Given the description of an element on the screen output the (x, y) to click on. 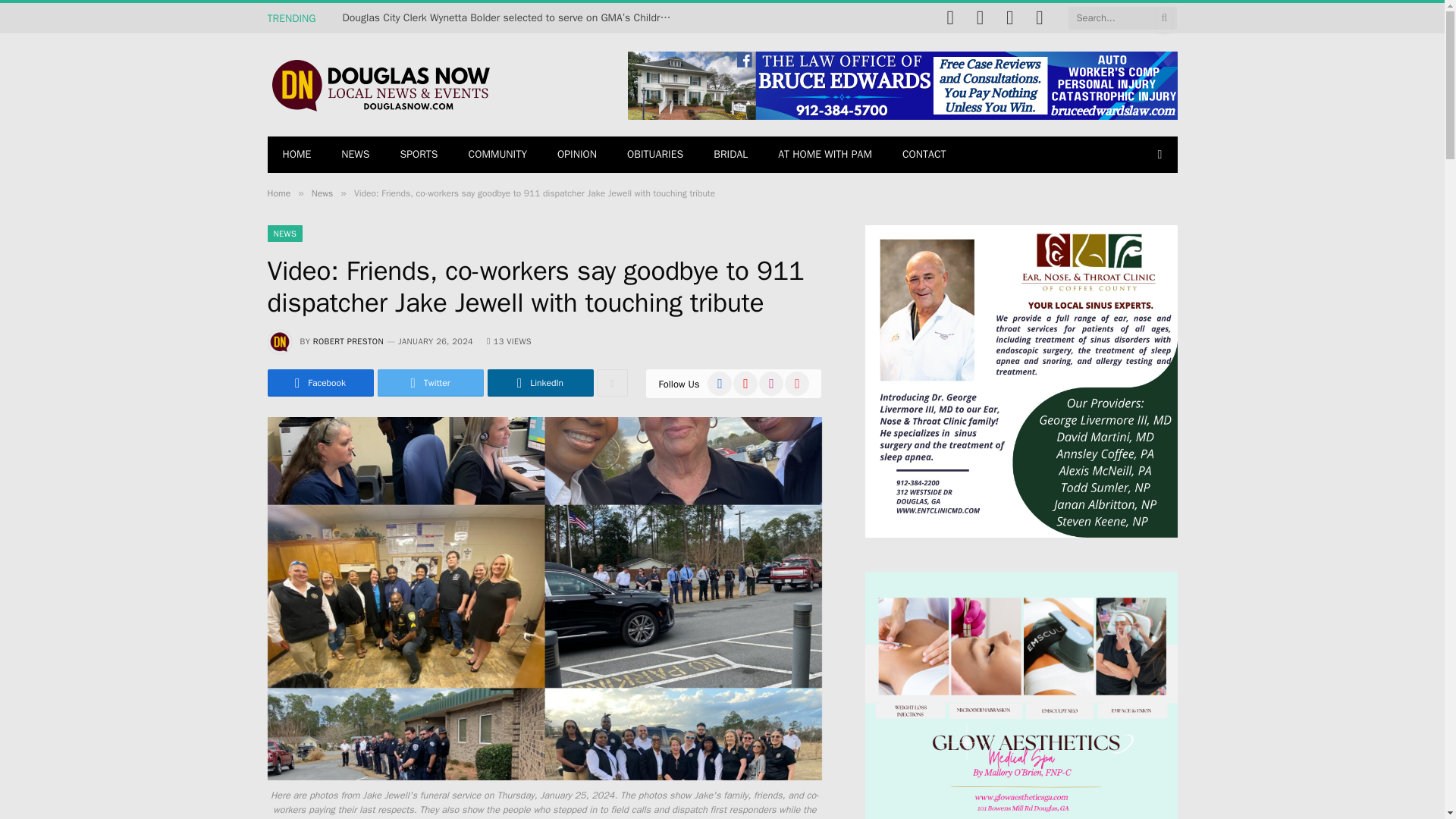
SPORTS (418, 154)
Share on Facebook (319, 382)
Facebook (949, 18)
YouTube (980, 18)
NEWS (355, 154)
Instagram (1009, 18)
Switch to Dark Design - easier on eyes. (1158, 154)
Share on LinkedIn (539, 382)
TikTok (1038, 18)
Posts by Robert Preston (348, 340)
